Given the description of an element on the screen output the (x, y) to click on. 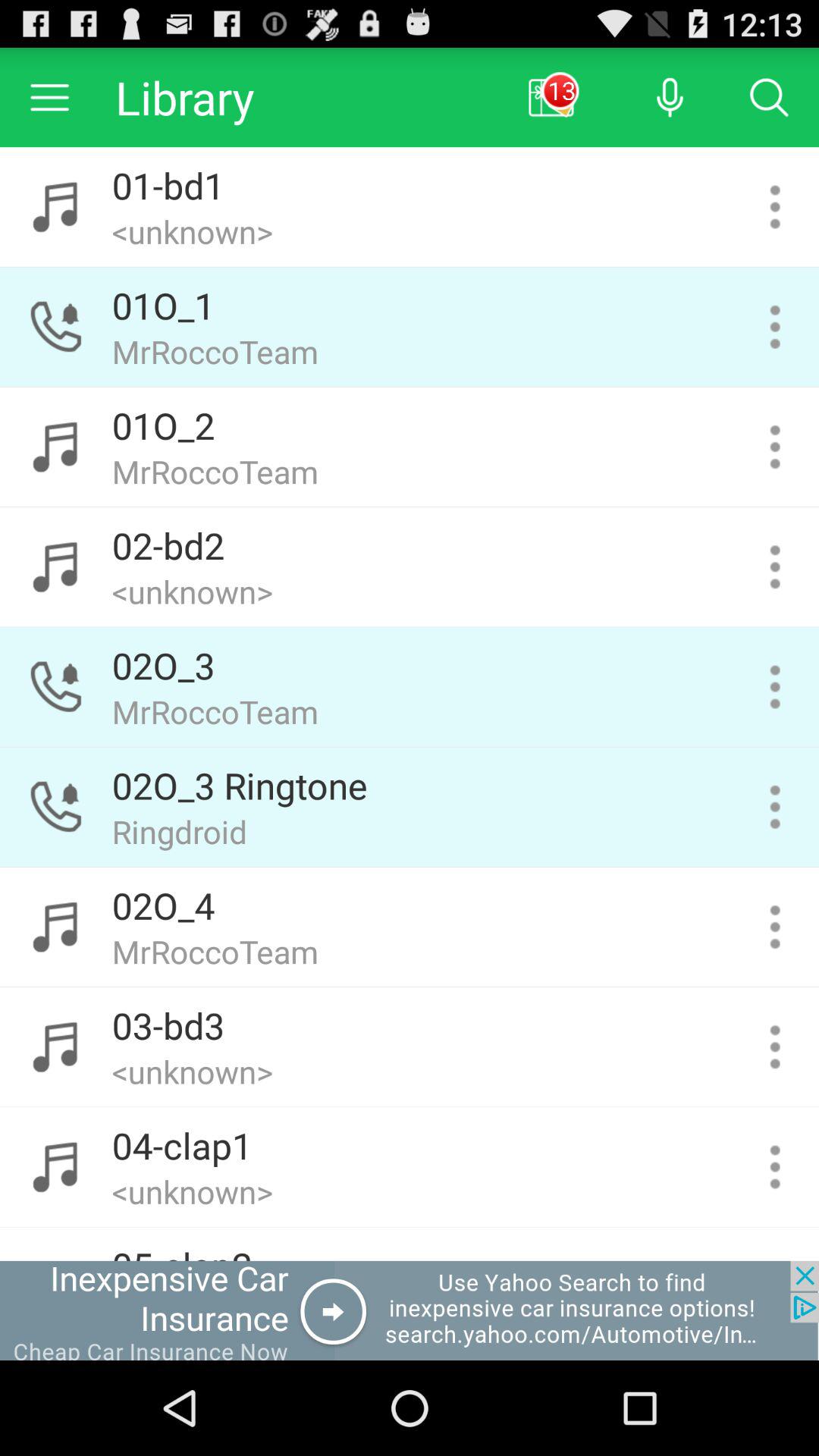
open context menu (775, 326)
